Given the description of an element on the screen output the (x, y) to click on. 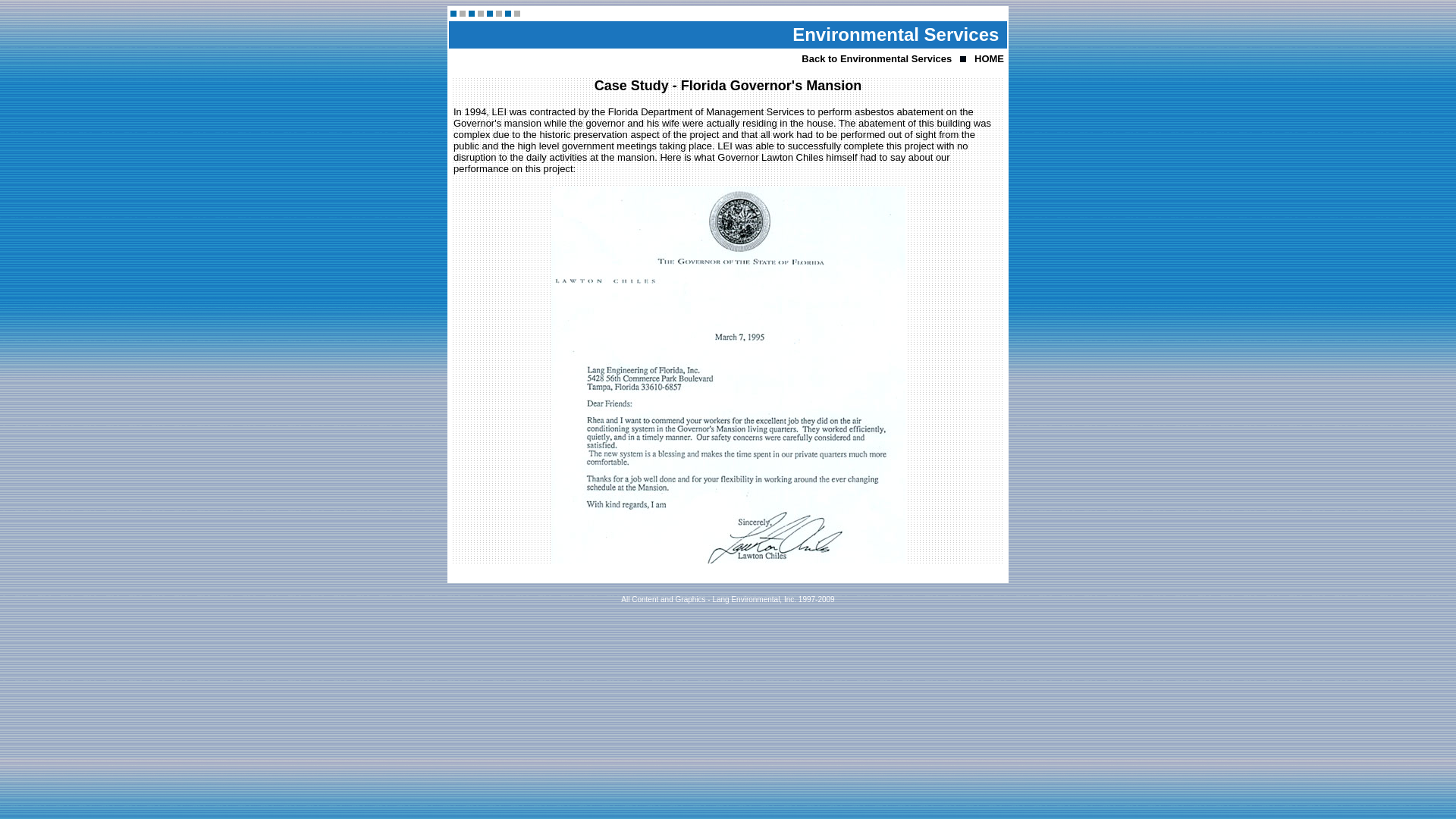
HOME Element type: text (989, 58)
Back to Environmental Services Element type: text (876, 58)
